Given the description of an element on the screen output the (x, y) to click on. 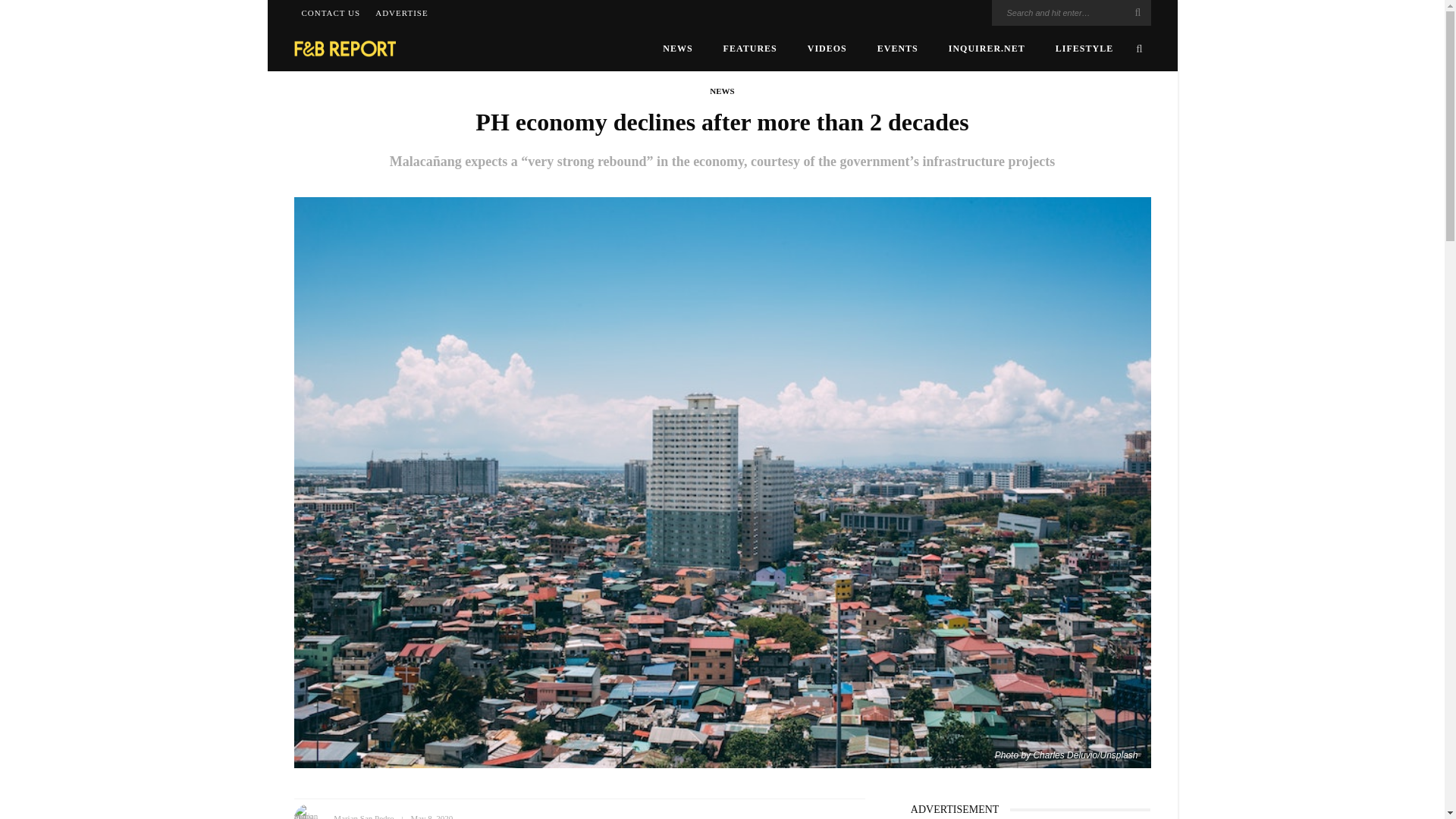
post by Marian San Pedro (363, 816)
PH economy declines after more than 2 decades (722, 481)
Search for: (1071, 12)
